Given the description of an element on the screen output the (x, y) to click on. 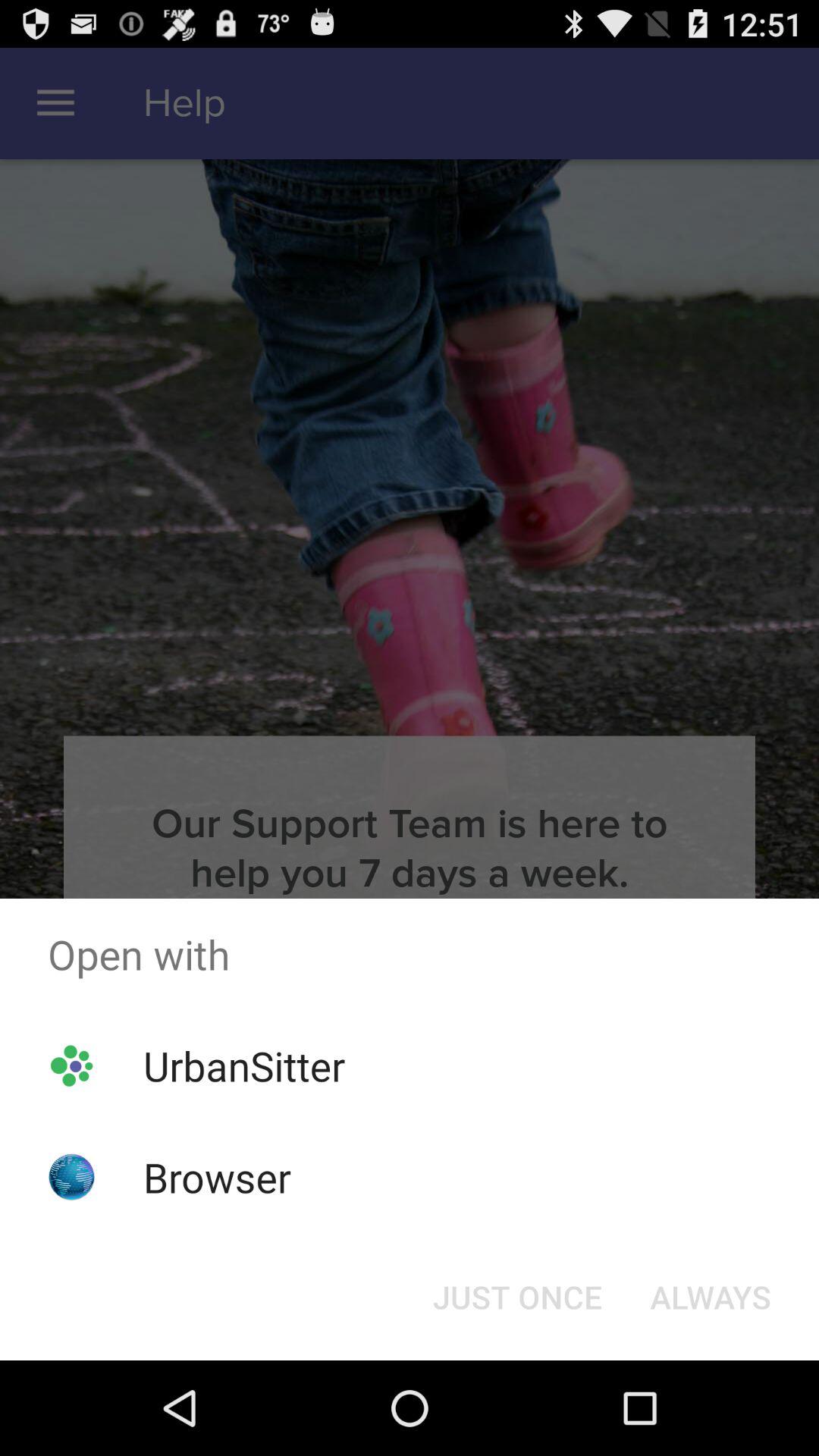
press the browser app (217, 1176)
